Given the description of an element on the screen output the (x, y) to click on. 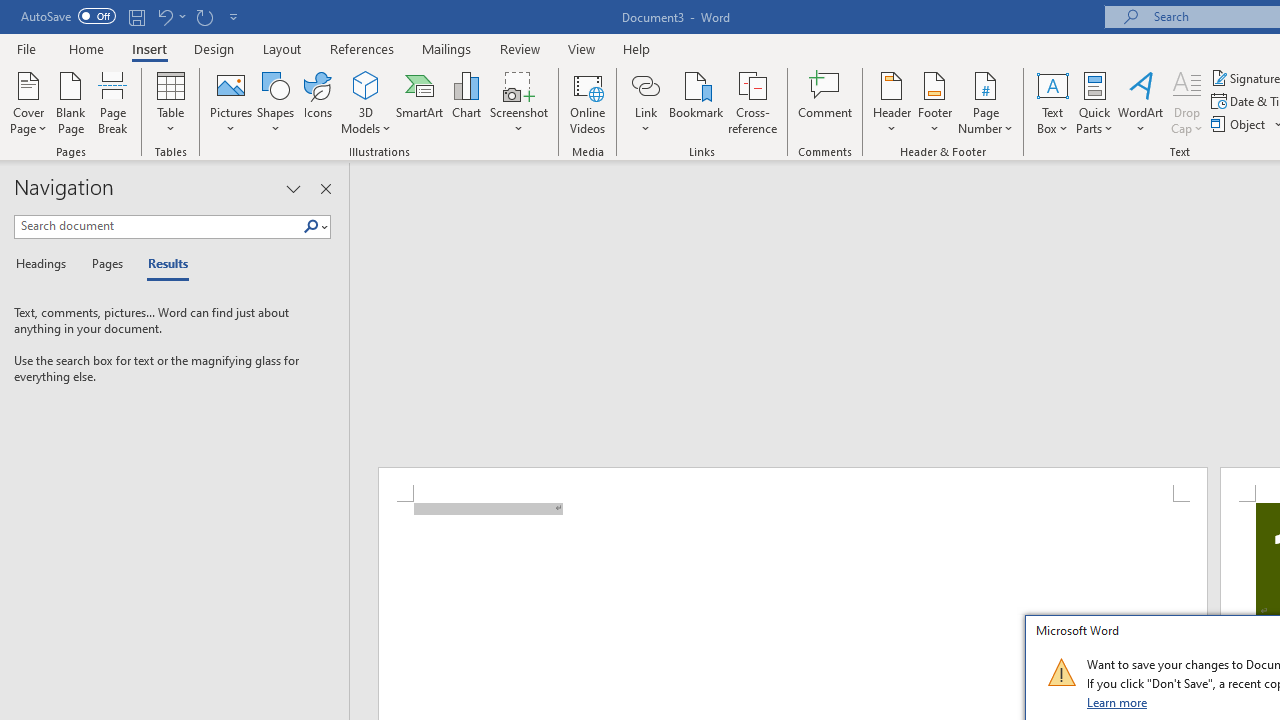
Cross-reference... (752, 102)
Footer (934, 102)
Insert (149, 48)
Review (520, 48)
Quick Access Toolbar (131, 16)
View (582, 48)
File Tab (26, 48)
Results (161, 264)
Undo New Page (170, 15)
Icons (317, 102)
Comment (825, 102)
Page Number (986, 102)
Pictures (230, 102)
Blank Page (70, 102)
